Given the description of an element on the screen output the (x, y) to click on. 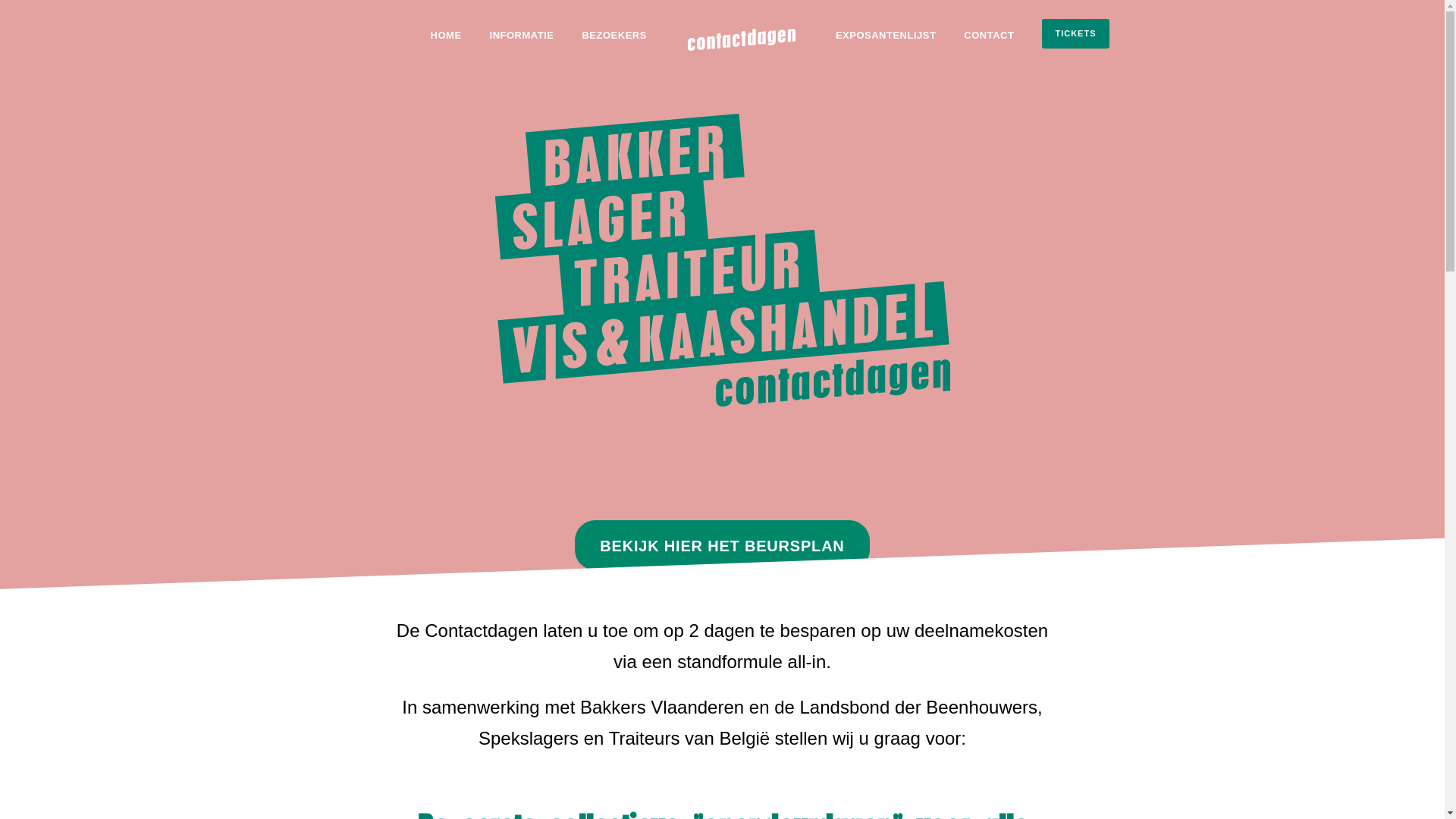
TICKETS Element type: text (1074, 33)
logo-footer-wit Element type: hover (741, 39)
HOME Element type: text (445, 48)
Exposanten handleiding Element type: text (678, 496)
BEKIJK HIER HET BEURSPLAN Element type: text (721, 545)
EXPOSANTENLIJST Element type: text (885, 48)
INFORMATIE Element type: text (521, 48)
Second Home Expo Element type: text (667, 630)
Second Home Beurs Element type: text (670, 669)
BEZOEKERS Element type: text (613, 48)
Voeding_Logo_H_Groen_Groen Element type: hover (721, 259)
CONTACT Element type: text (988, 48)
